Given the description of an element on the screen output the (x, y) to click on. 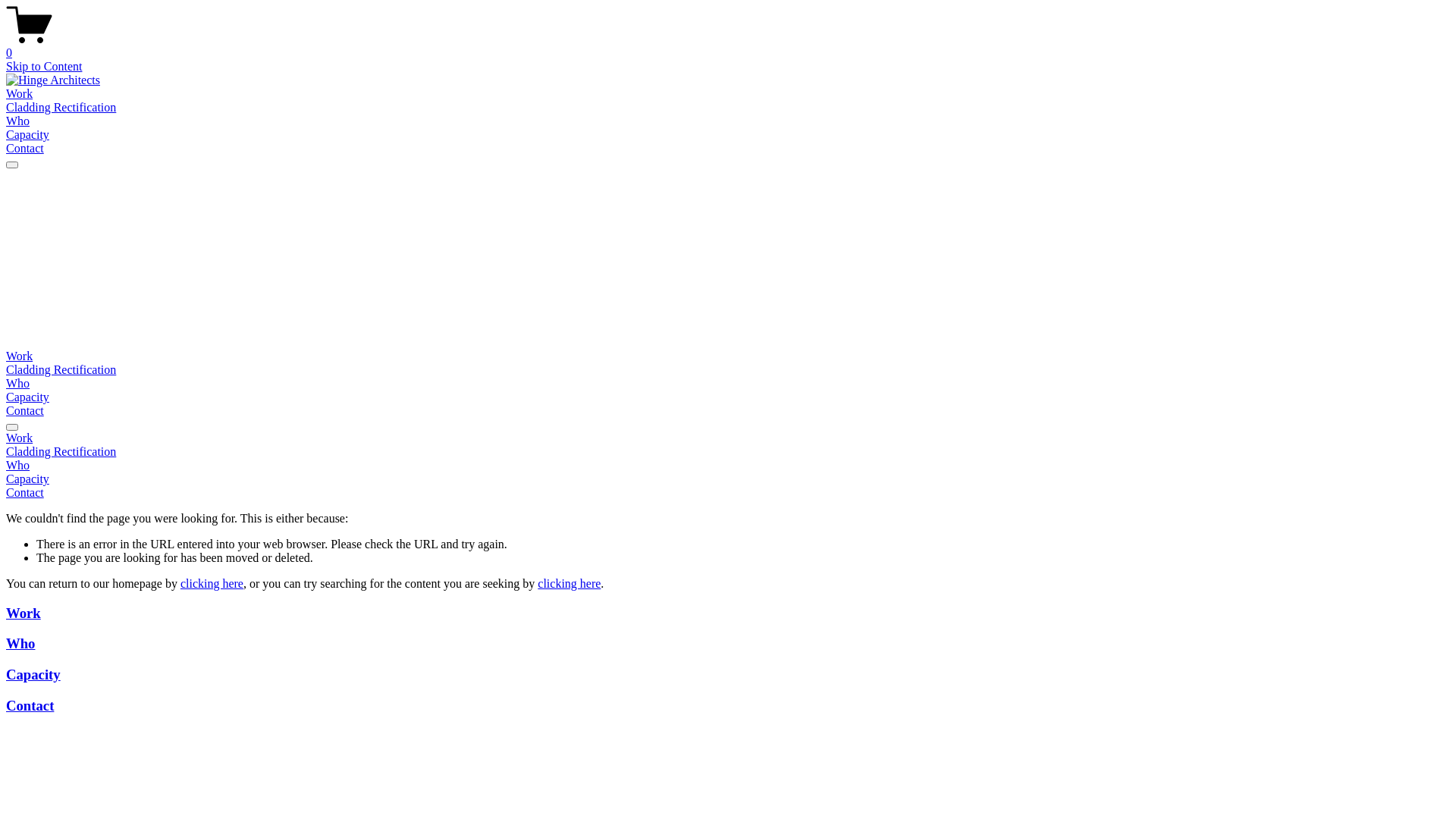
Who Element type: text (17, 120)
Capacity Element type: text (27, 396)
Who Element type: text (20, 643)
Cladding Rectification Element type: text (727, 451)
Capacity Element type: text (27, 134)
Contact Element type: text (24, 147)
Who Element type: text (727, 465)
Capacity Element type: text (33, 674)
Who Element type: text (17, 382)
Contact Element type: text (24, 410)
Work Element type: text (23, 613)
0 Element type: text (727, 45)
Work Element type: text (19, 355)
Work Element type: text (19, 93)
clicking here Element type: text (211, 583)
Cladding Rectification Element type: text (61, 106)
Cladding Rectification Element type: text (61, 369)
Work Element type: text (727, 438)
clicking here Element type: text (568, 583)
Contact Element type: text (727, 492)
Contact Element type: text (29, 705)
Skip to Content Element type: text (43, 65)
Capacity Element type: text (727, 479)
